Given the description of an element on the screen output the (x, y) to click on. 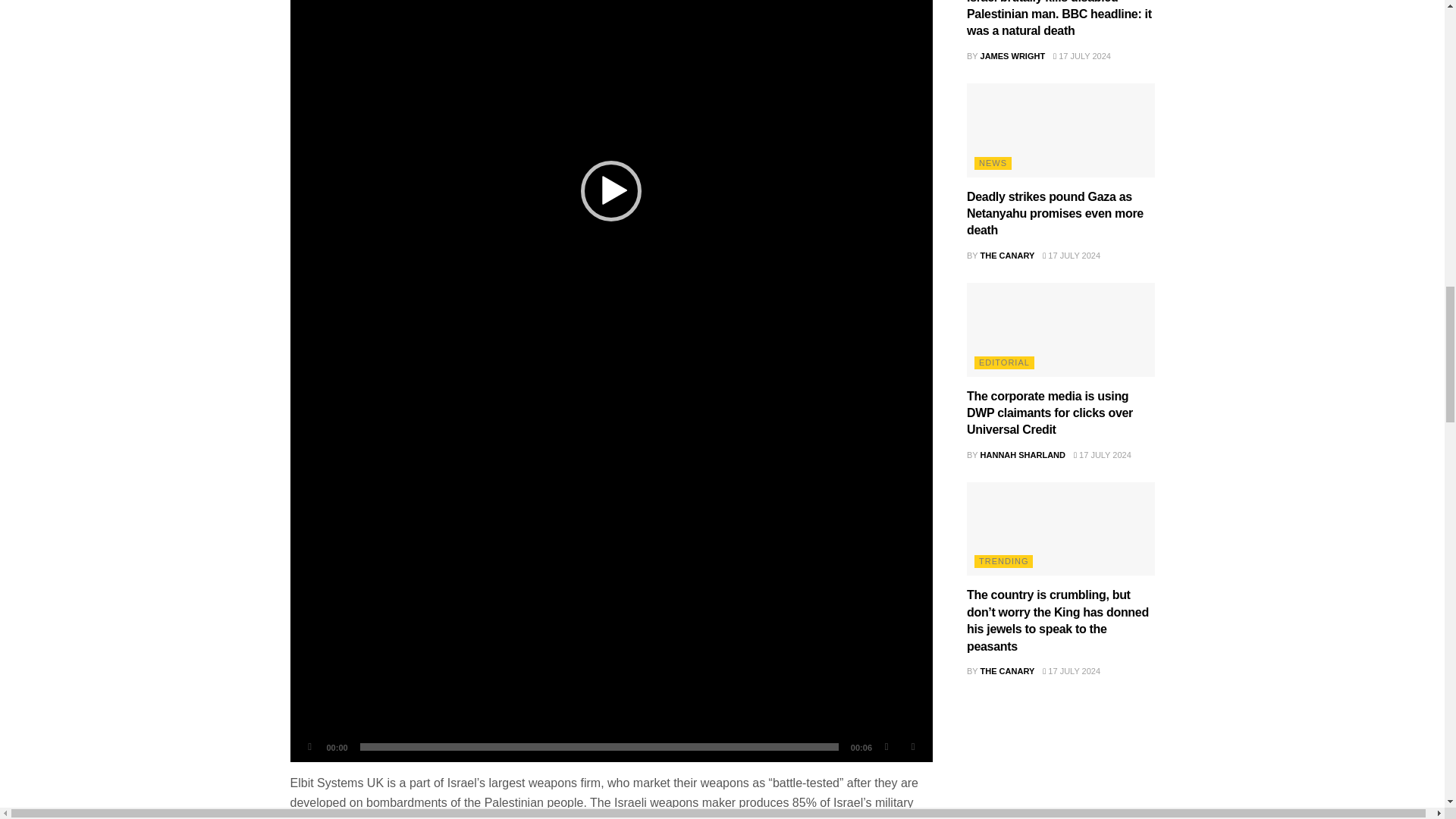
Mute (886, 746)
Fullscreen (912, 746)
Play (309, 746)
